Given the description of an element on the screen output the (x, y) to click on. 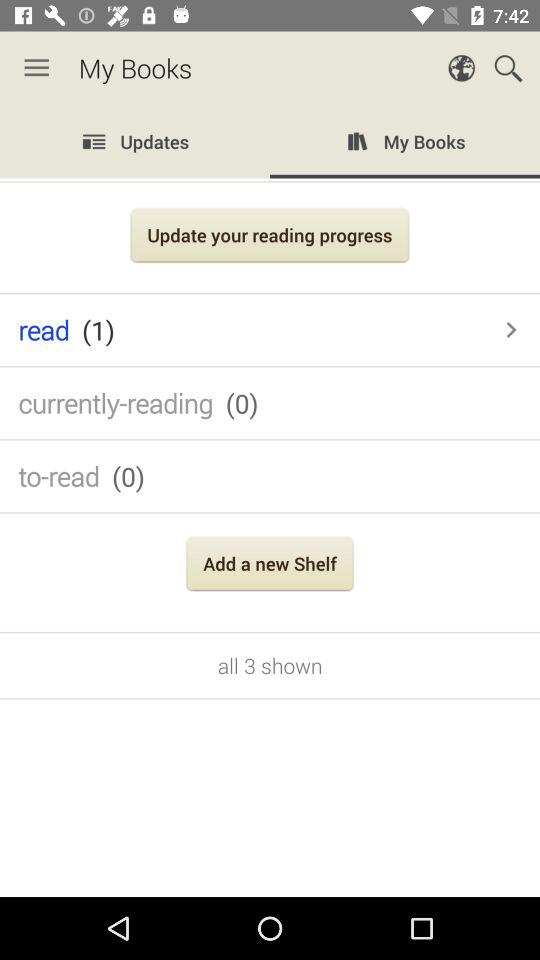
open icon next to my books (36, 68)
